Given the description of an element on the screen output the (x, y) to click on. 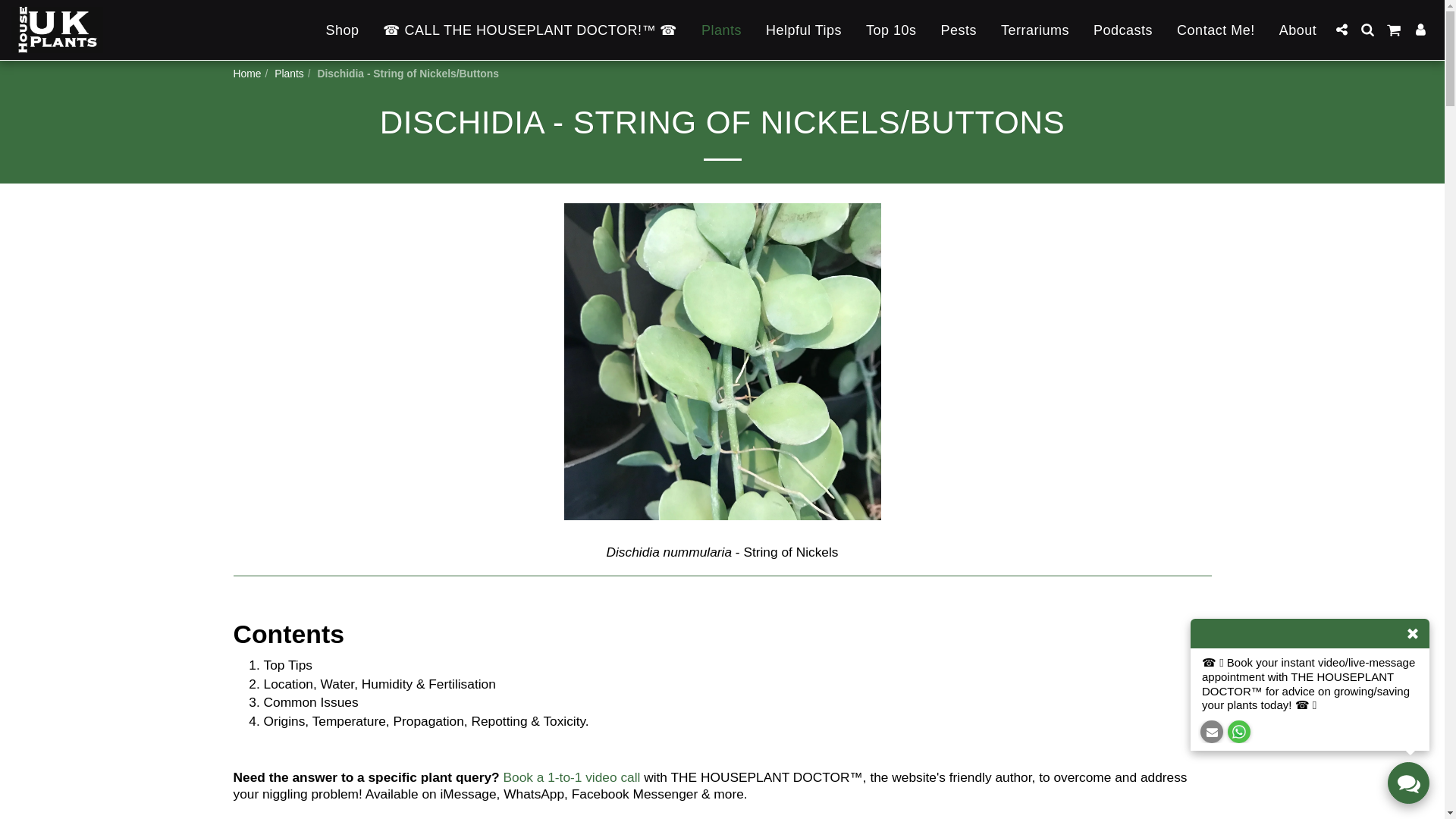
Pests (959, 30)
Top 10s (891, 30)
Terrariums (1035, 30)
Podcasts (1122, 30)
Helpful Tips (803, 30)
Book a 1-to-1 video call (571, 776)
Contact Me! (1216, 30)
Shop (341, 30)
Plants (289, 73)
About (1297, 30)
Home (247, 73)
Plants (721, 30)
